Given the description of an element on the screen output the (x, y) to click on. 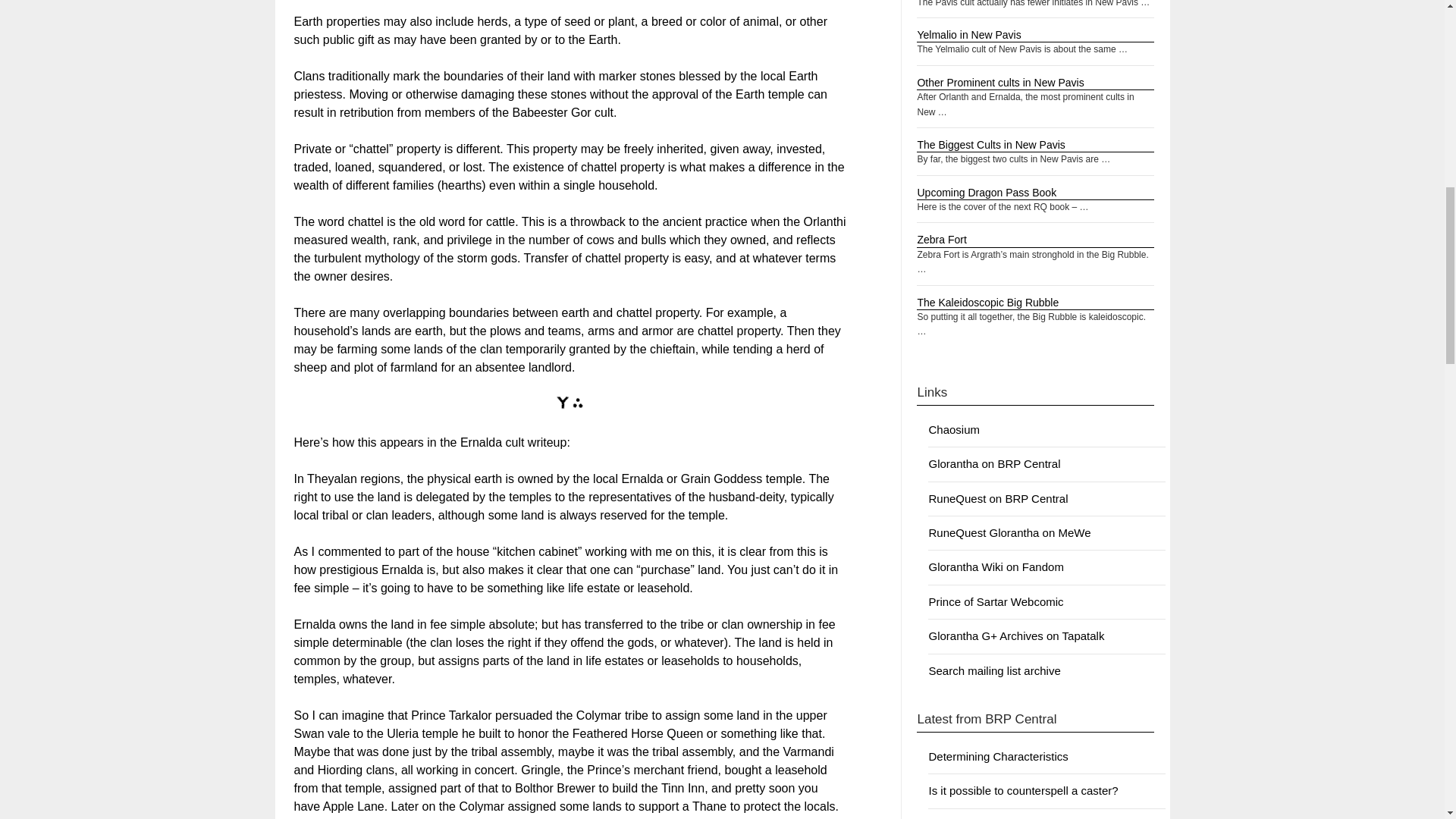
RuneQuest on BRP Central (997, 498)
The Biggest Cults in New Pavis (990, 144)
Glorantha on BRP Central (993, 463)
Other Prominent cults in New Pavis (1000, 82)
Chaosium (953, 429)
Upcoming Dragon Pass Book (987, 192)
RuneQuest Glorantha on MeWe (1009, 532)
Yelmalio in New Pavis (968, 34)
The Kaleidoscopic Big Rubble (987, 302)
Zebra Fort (941, 239)
